Given the description of an element on the screen output the (x, y) to click on. 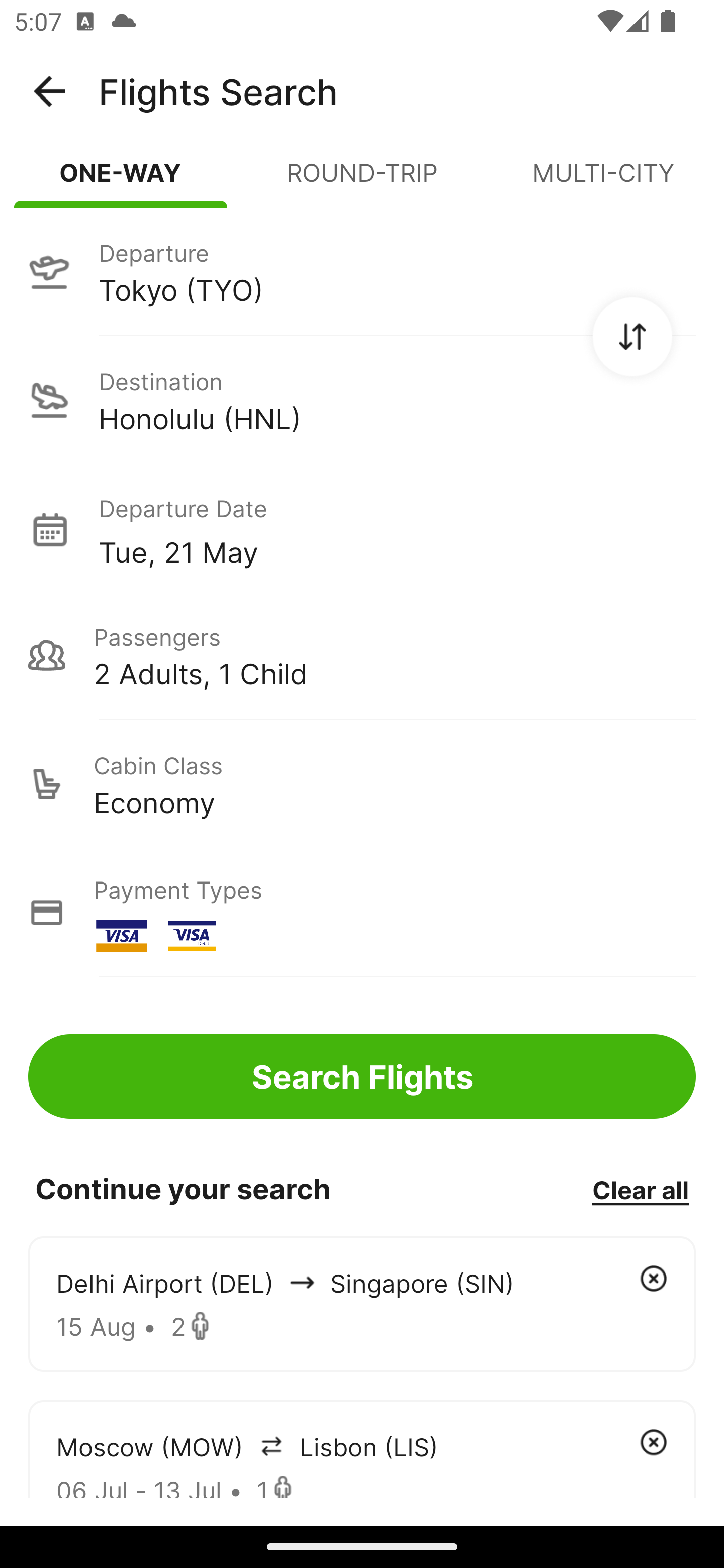
ONE-WAY (120, 180)
ROUND-TRIP (361, 180)
MULTI-CITY (603, 180)
Departure Tokyo (TYO) (362, 270)
Destination Honolulu (HNL) (362, 400)
Departure Date Tue, 21 May (396, 528)
Passengers 2 Adults, 1 Child (362, 655)
Cabin Class Economy (362, 783)
Payment Types (362, 912)
Search Flights (361, 1075)
Clear all (640, 1189)
